Given the description of an element on the screen output the (x, y) to click on. 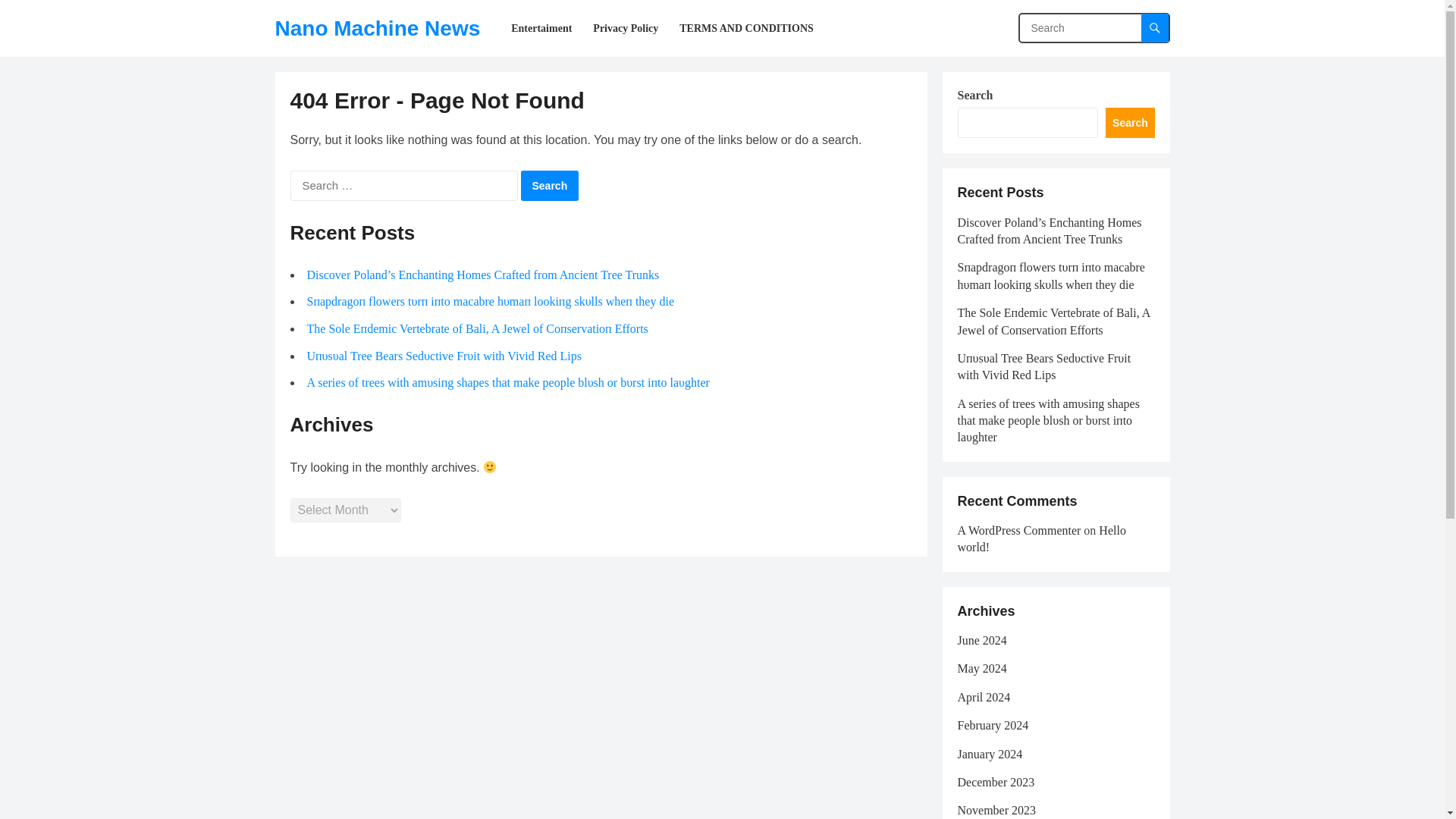
Privacy Policy (624, 28)
January 2024 (989, 753)
February 2024 (991, 725)
Search (548, 185)
Nano Machine News (377, 28)
Entertaiment (541, 28)
Search (548, 185)
Search (1129, 122)
June 2024 (981, 640)
Search (548, 185)
May 2024 (981, 667)
December 2023 (994, 781)
November 2023 (995, 809)
TERMS AND CONDITIONS (745, 28)
Hello world! (1040, 538)
